Given the description of an element on the screen output the (x, y) to click on. 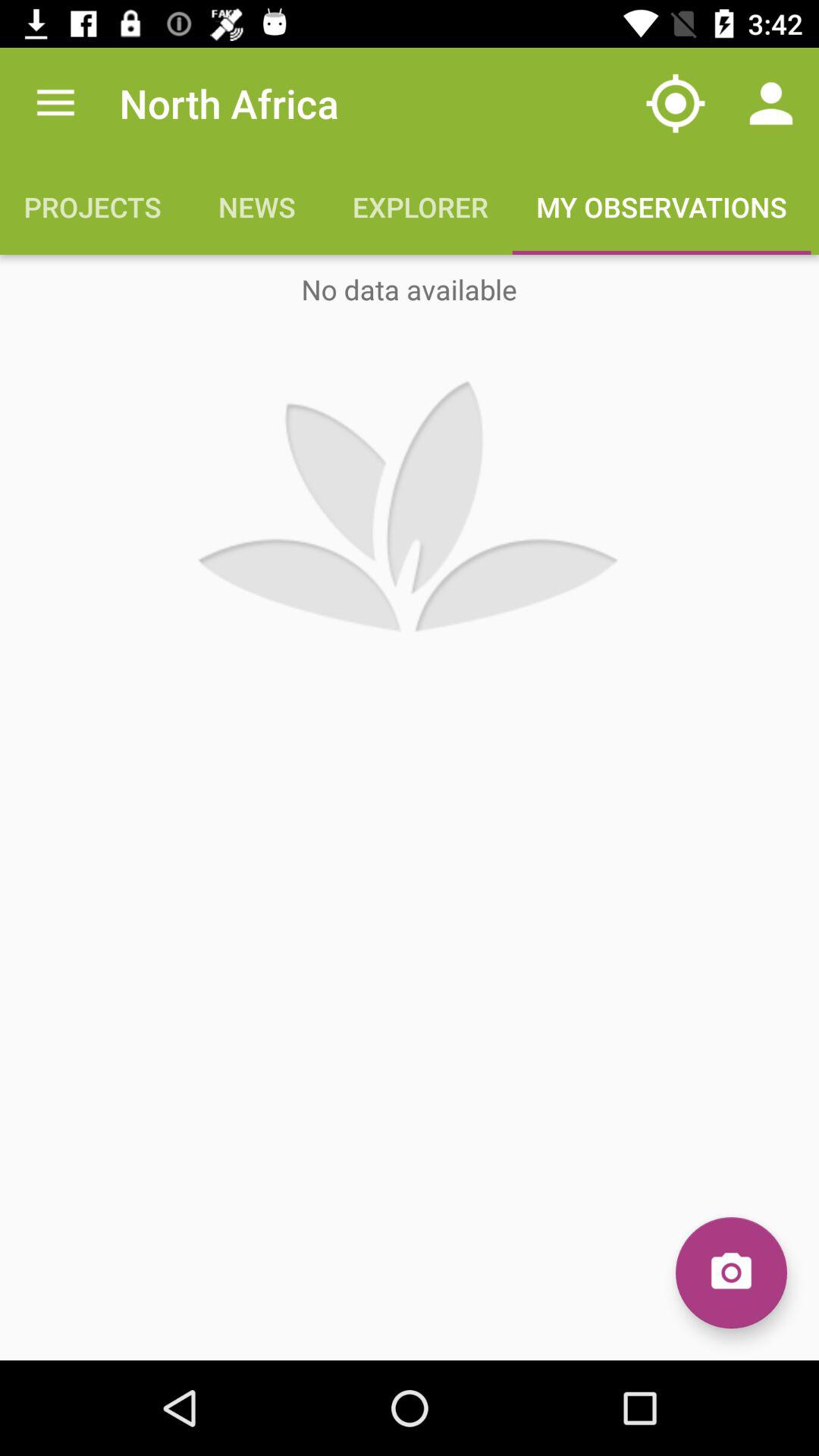
tap item above the my observations icon (771, 103)
